Given the description of an element on the screen output the (x, y) to click on. 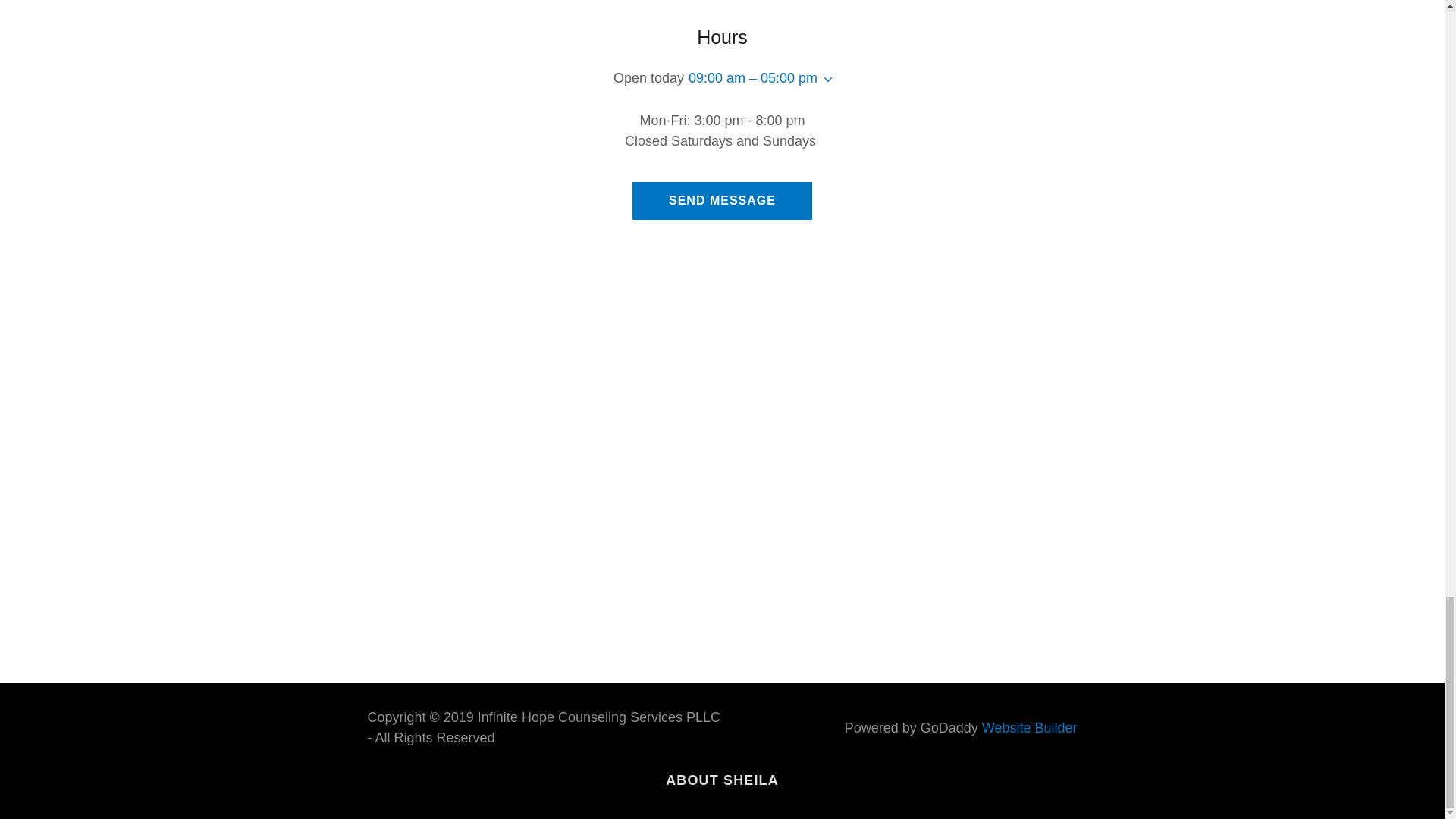
SEND MESSAGE (721, 200)
